Given the description of an element on the screen output the (x, y) to click on. 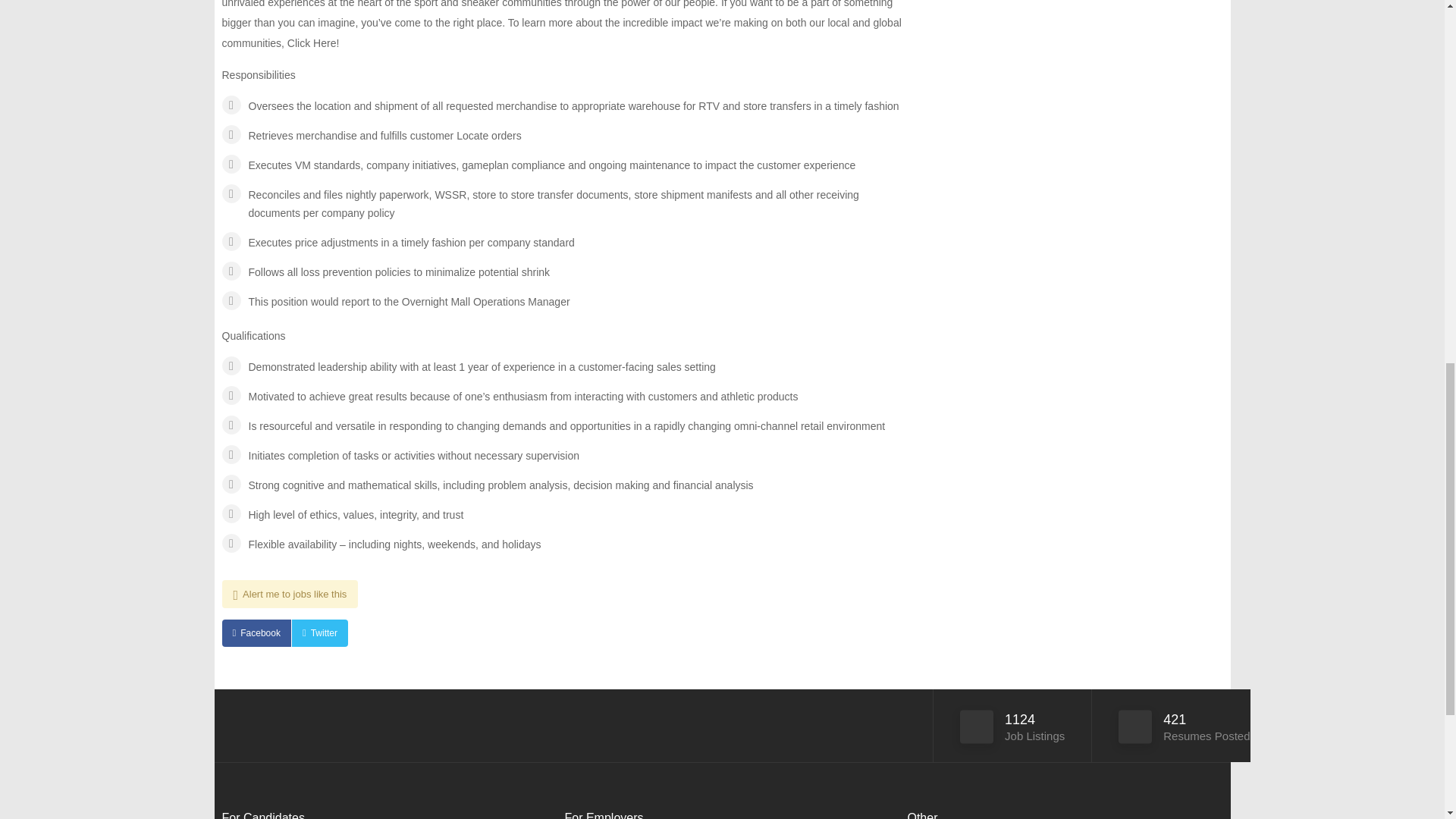
Twitter (319, 633)
Facebook (255, 633)
Alert me to jobs like this (289, 593)
Twitter (319, 633)
